Given the description of an element on the screen output the (x, y) to click on. 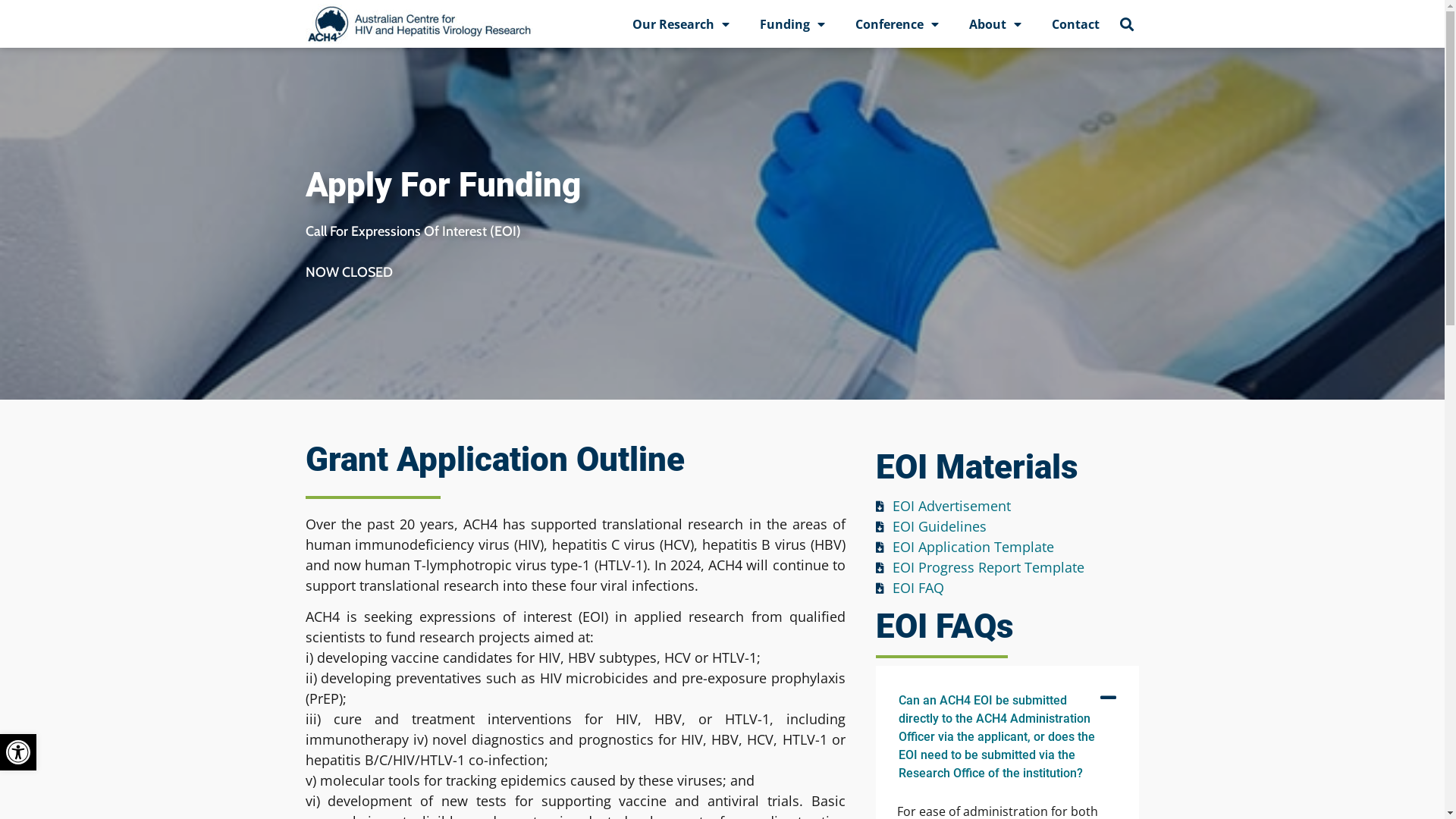
EOI Application Template Element type: text (1007, 546)
EOI Guidelines Element type: text (1007, 526)
About Element type: text (994, 24)
EOI FAQ Element type: text (1007, 587)
Contact Element type: text (1074, 24)
EOI Advertisement Element type: text (1007, 505)
Our Research Element type: text (680, 24)
Funding Element type: text (792, 24)
Conference Element type: text (896, 24)
Open toolbar Element type: text (18, 752)
EOI Progress Report Template Element type: text (1007, 567)
